Given the description of an element on the screen output the (x, y) to click on. 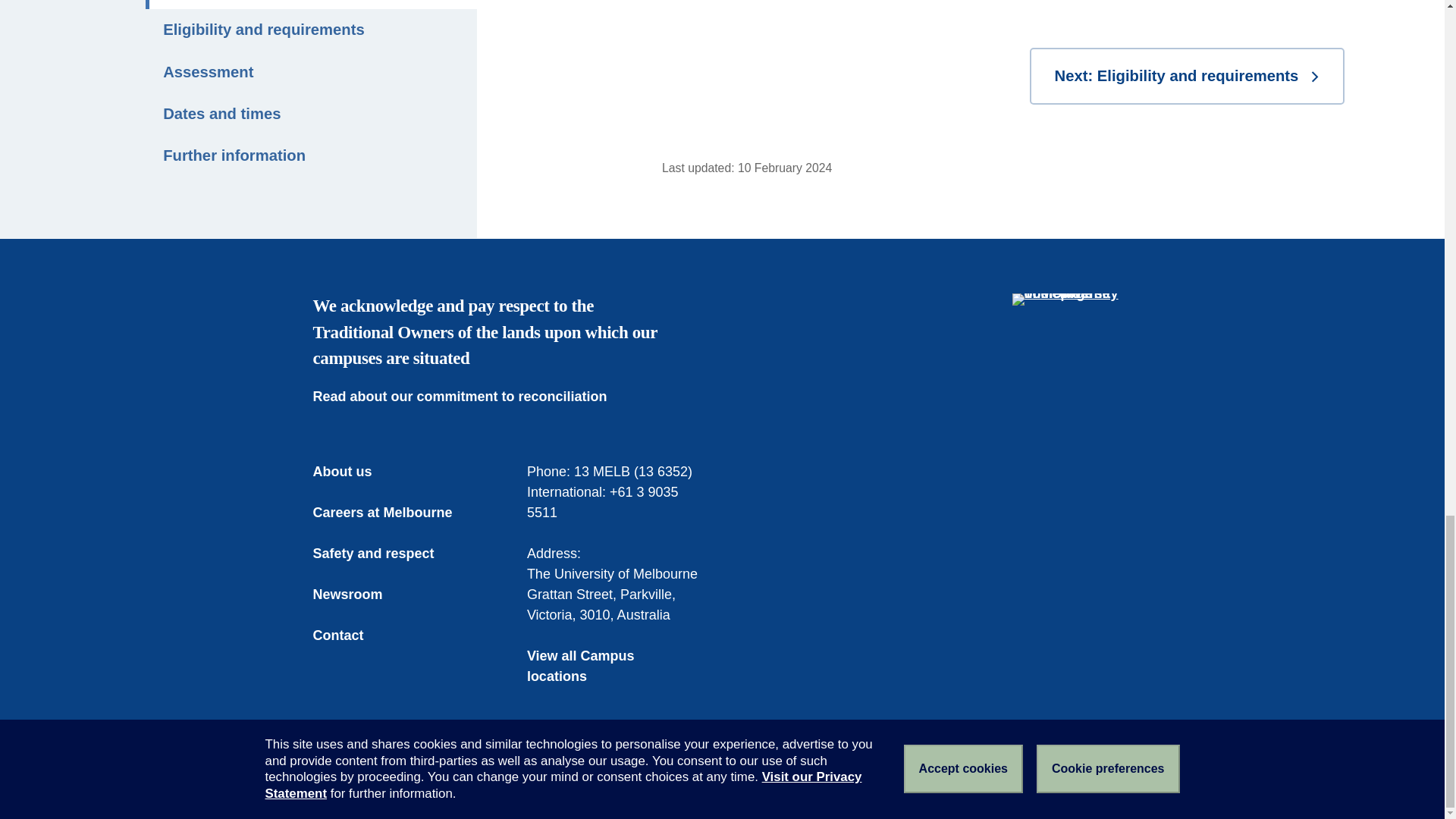
Emergency (345, 780)
Read about our commitment to reconciliation (470, 396)
Next: Eligibility and requirements (1186, 75)
About us (353, 471)
Newsroom (358, 594)
Contact (349, 635)
View all Campus locations (615, 666)
Accessibility (532, 780)
Privacy (604, 780)
Careers at Melbourne (393, 512)
Safety and respect (384, 553)
